Given the description of an element on the screen output the (x, y) to click on. 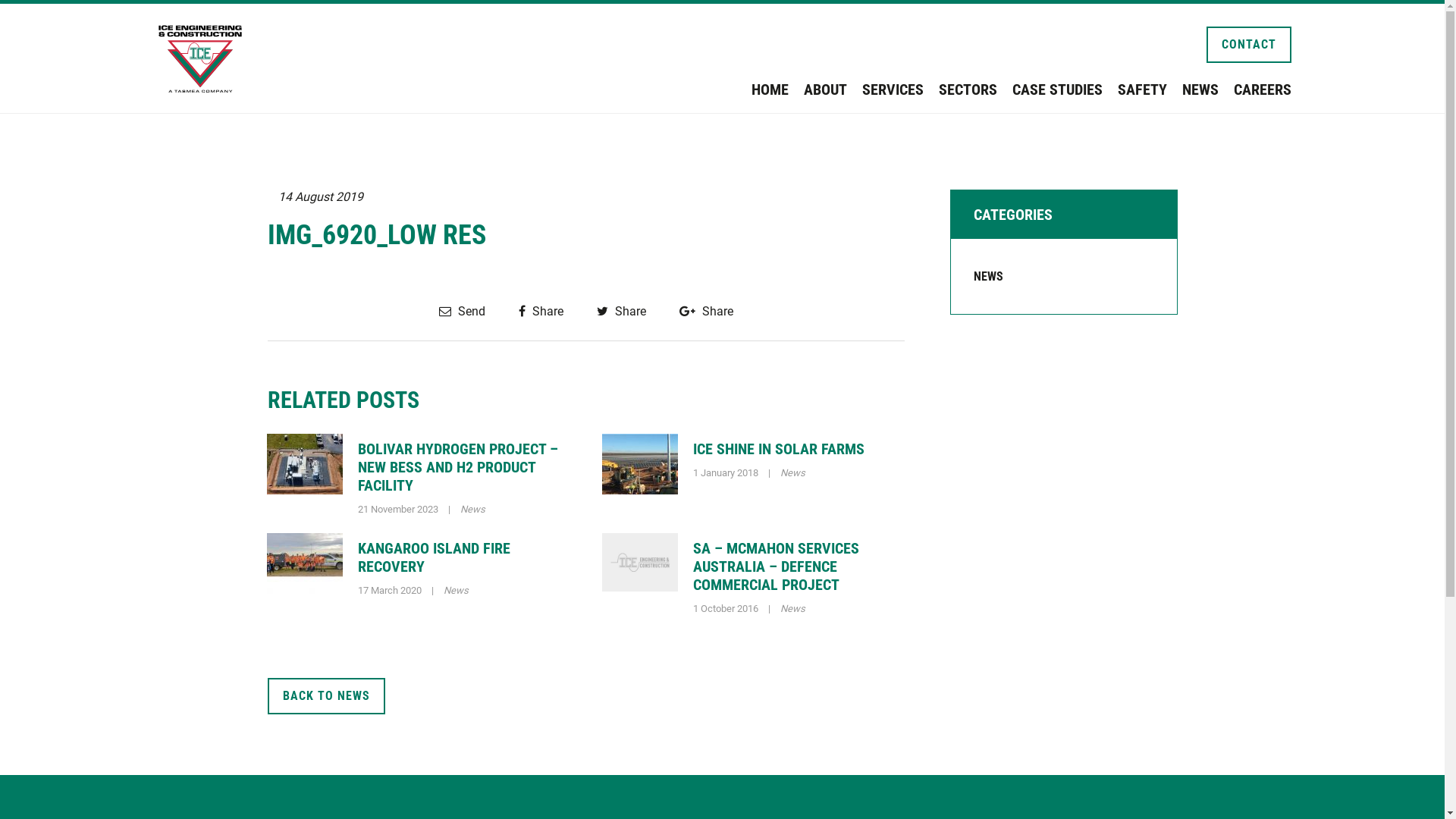
CASE STUDIES Element type: text (1056, 89)
News Element type: text (471, 508)
SERVICES Element type: text (891, 89)
SECTORS Element type: text (967, 89)
KANGAROO ISLAND FIRE RECOVERY Element type: text (433, 557)
News Element type: text (454, 590)
News Element type: text (792, 608)
SAFETY Element type: text (1142, 89)
Send Element type: text (461, 310)
CONTACT Element type: text (1247, 44)
BACK TO NEWS Element type: text (325, 695)
ICE SHINE IN SOLAR FARMS Element type: text (778, 448)
CAREERS Element type: text (1261, 89)
Share Element type: text (540, 310)
ABOUT Element type: text (825, 89)
Share Element type: text (706, 310)
HOME Element type: text (768, 89)
NEWS Element type: text (1199, 89)
Share Element type: text (620, 310)
News Element type: text (792, 472)
NEWS Element type: text (988, 276)
